Given the description of an element on the screen output the (x, y) to click on. 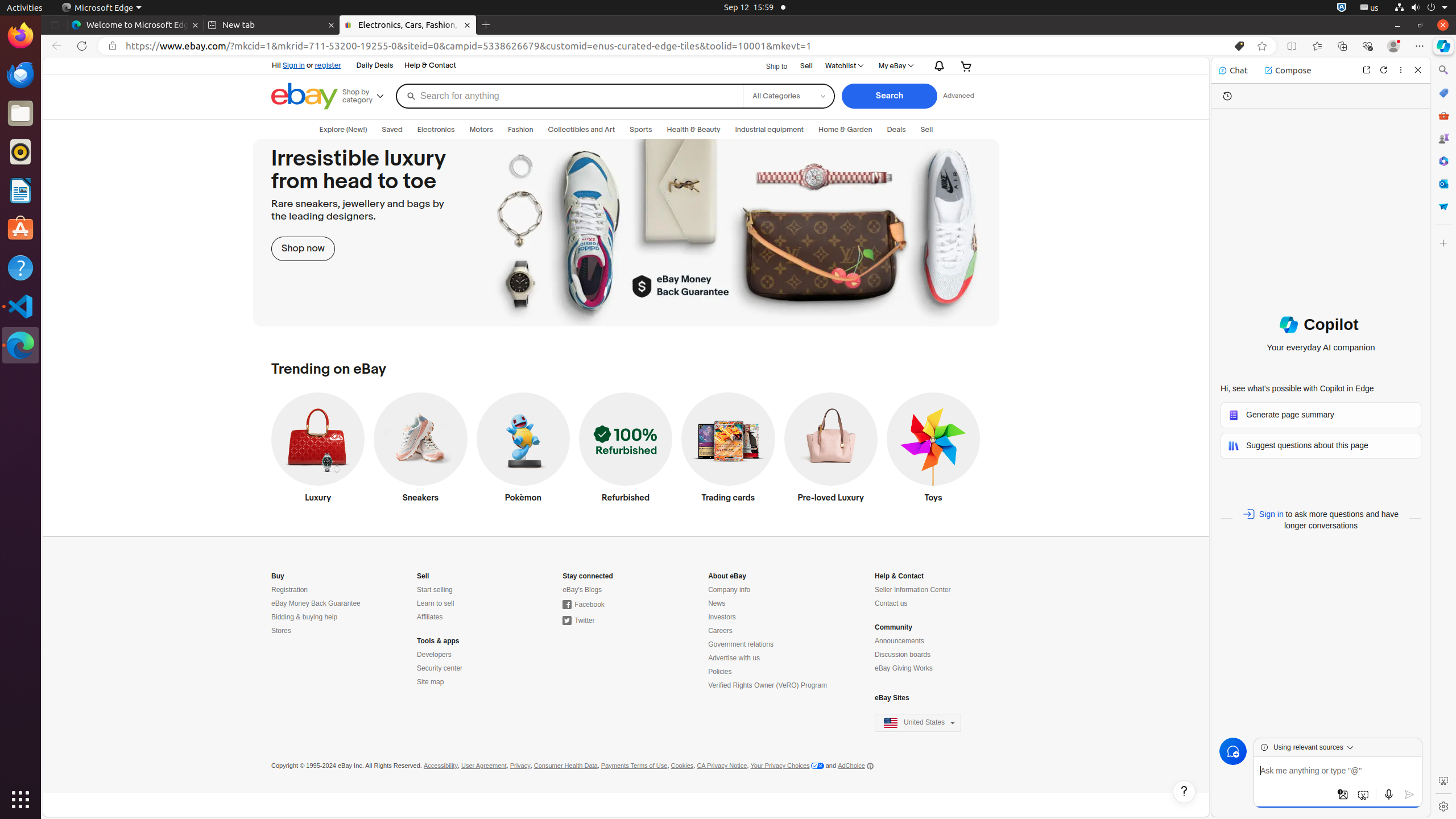
Industrial equipment Element type: link (769, 129)
Files Element type: push-button (20, 113)
Contact us Element type: link (890, 603)
Health & Beauty Element type: link (693, 129)
LibreOffice Writer Element type: push-button (20, 190)
